Given the description of an element on the screen output the (x, y) to click on. 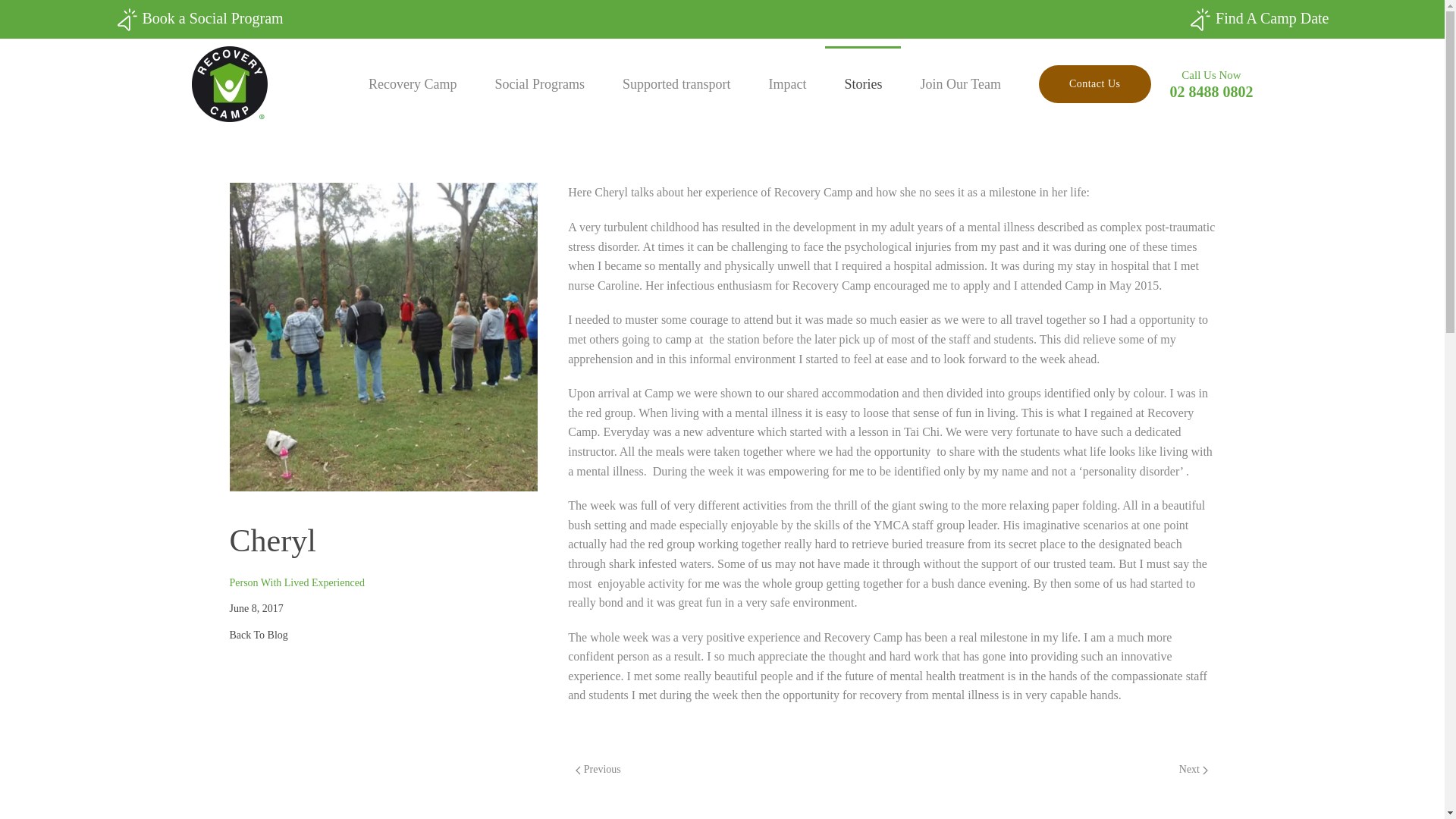
Person With Lived Experienced (296, 582)
Book a Social Program (198, 19)
Next (1193, 769)
02 8488 0802 (1210, 91)
Impact (787, 83)
Previous (597, 769)
Back To Blog (382, 635)
Join Our Team (960, 83)
Recovery Camp (412, 83)
Stories (863, 83)
